Given the description of an element on the screen output the (x, y) to click on. 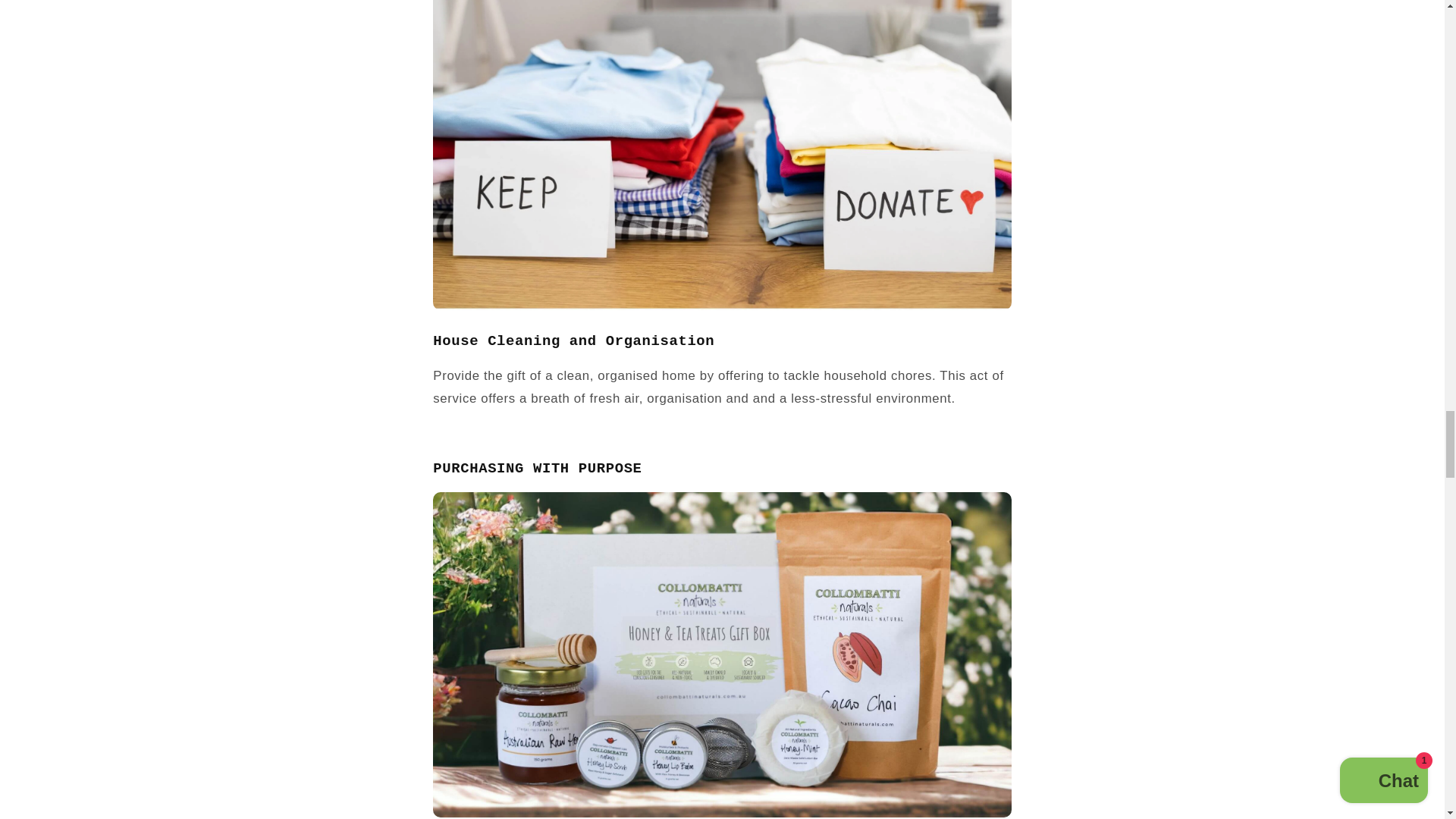
Collombatti Naturals honey and tea treats gift box (721, 812)
